Given the description of an element on the screen output the (x, y) to click on. 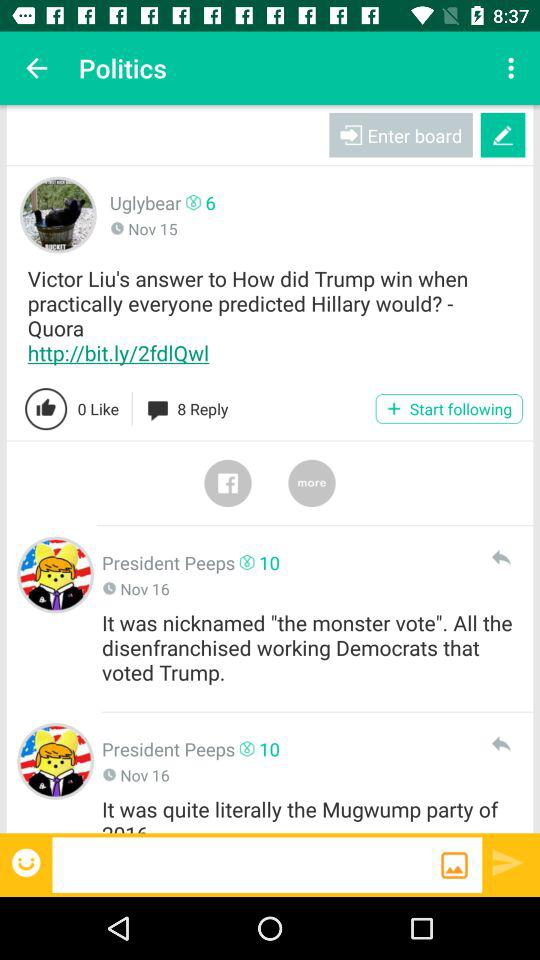
writing comments box (246, 864)
